Given the description of an element on the screen output the (x, y) to click on. 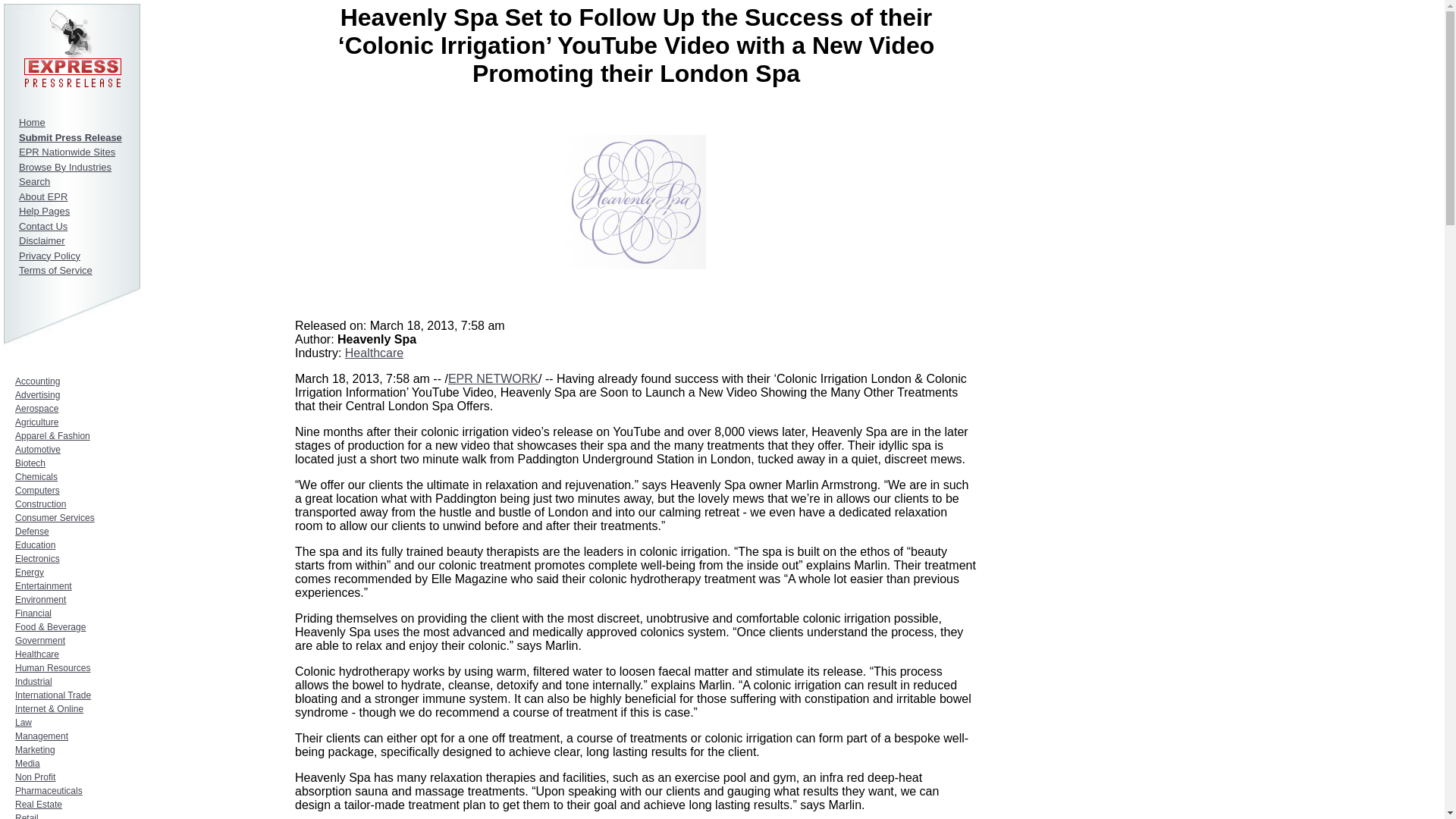
Chemicals (36, 476)
EPR Nationwide Sites (66, 152)
Electronics (36, 558)
Agriculture (36, 421)
Home (31, 122)
Biotech (29, 462)
Defense (31, 531)
Entertainment (42, 585)
Healthcare (36, 654)
Privacy Policy (49, 255)
